Given the description of an element on the screen output the (x, y) to click on. 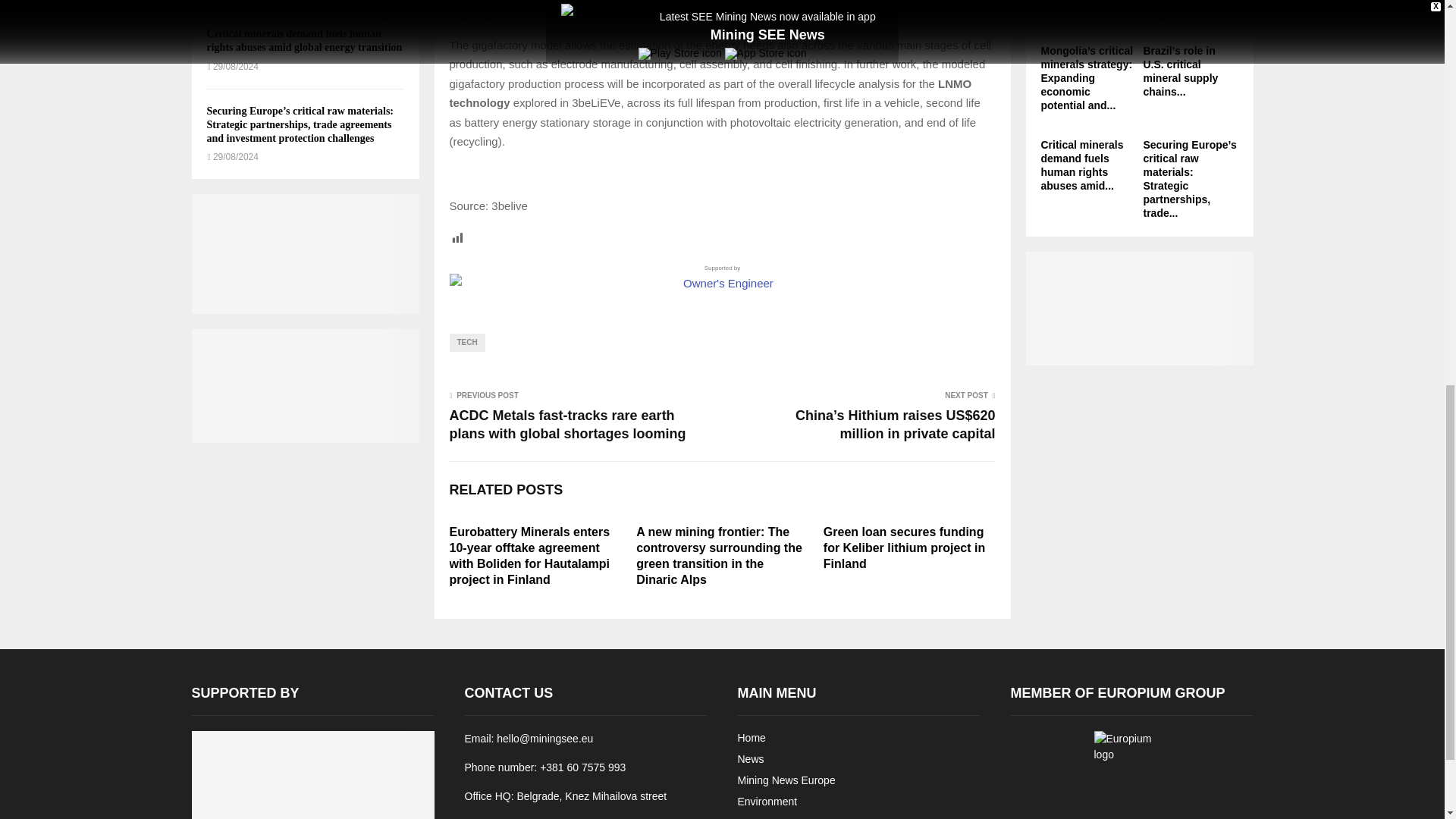
Supported by (721, 277)
TECH (466, 342)
